Given the description of an element on the screen output the (x, y) to click on. 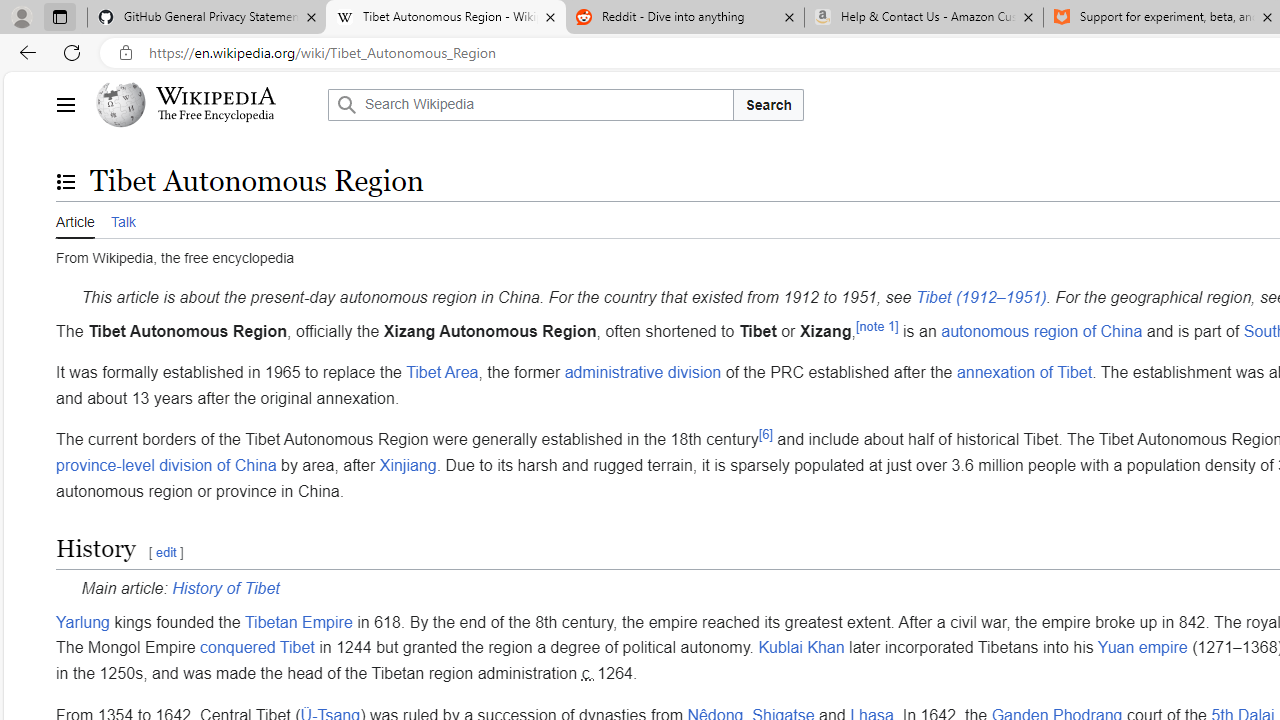
Tibetan Empire (298, 621)
Talk (122, 219)
Main menu (65, 104)
GitHub General Privacy Statement - GitHub Docs (207, 17)
Yarlung (83, 621)
Article (75, 219)
[note 1] (876, 326)
Article (75, 219)
History of Tibet (225, 589)
Help & Contact Us - Amazon Customer Service - Sleeping (924, 17)
Search Wikipedia (530, 104)
